Given the description of an element on the screen output the (x, y) to click on. 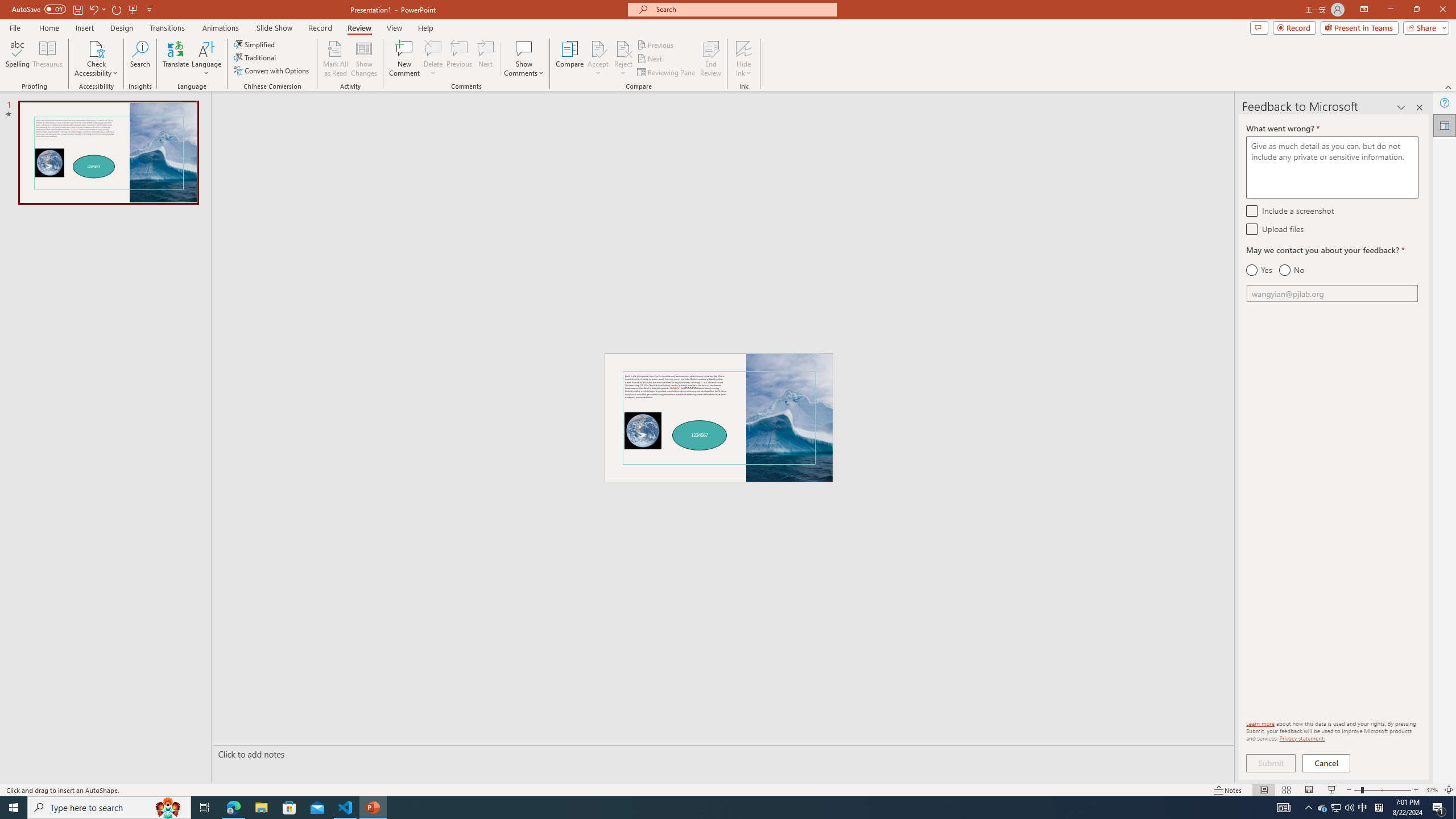
Undo (92, 9)
No (1291, 269)
Compare (569, 58)
Reading View (1308, 790)
Review (359, 28)
Email (1332, 293)
Zoom (1382, 790)
Record (320, 28)
Learn more (1260, 723)
Search (140, 58)
Upload files (1251, 228)
Convert with Options... (272, 69)
Home (48, 28)
